Given the description of an element on the screen output the (x, y) to click on. 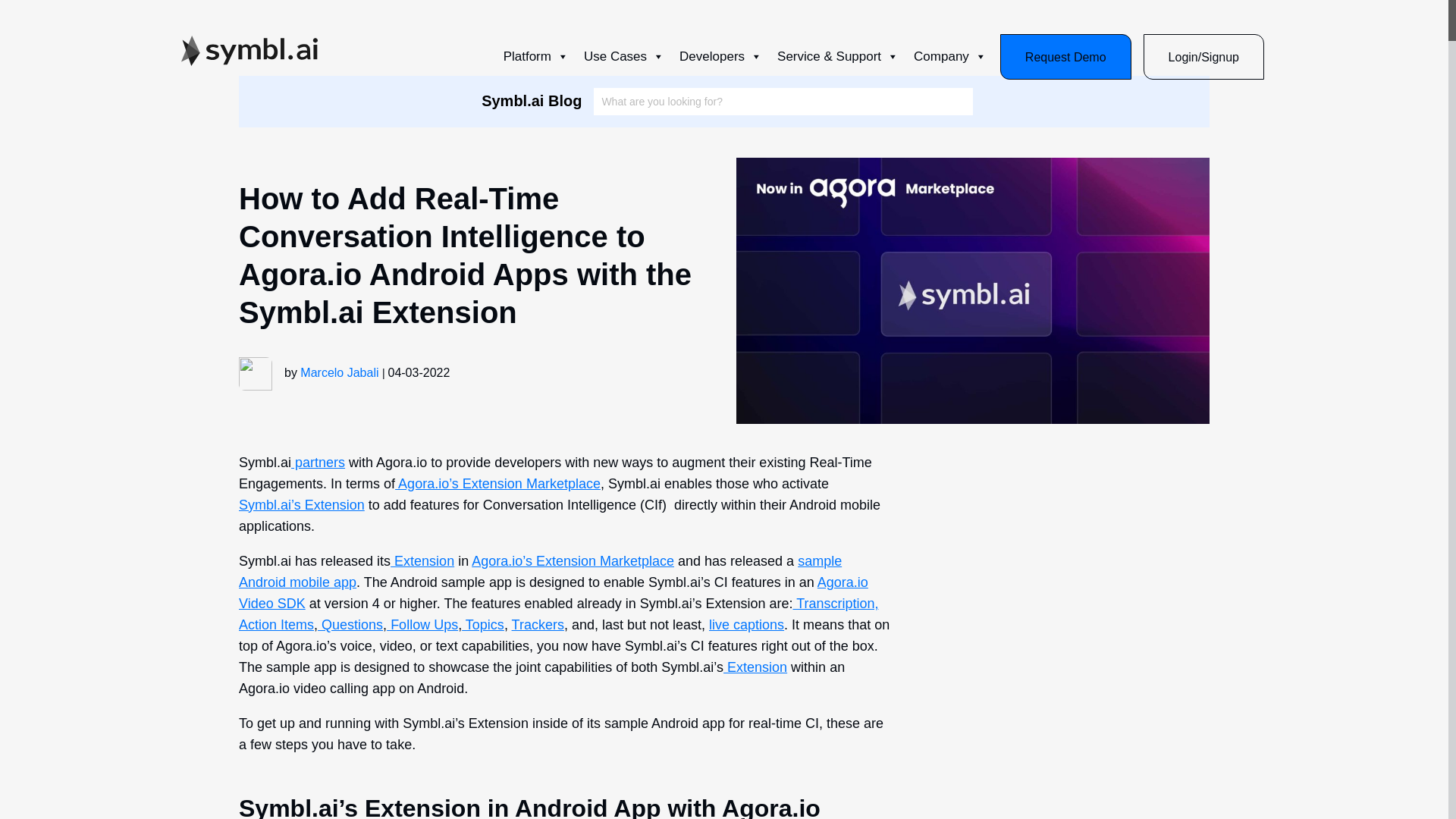
Search (951, 101)
Marcelo Jabali (338, 372)
Search (951, 101)
Platform (536, 56)
